Given the description of an element on the screen output the (x, y) to click on. 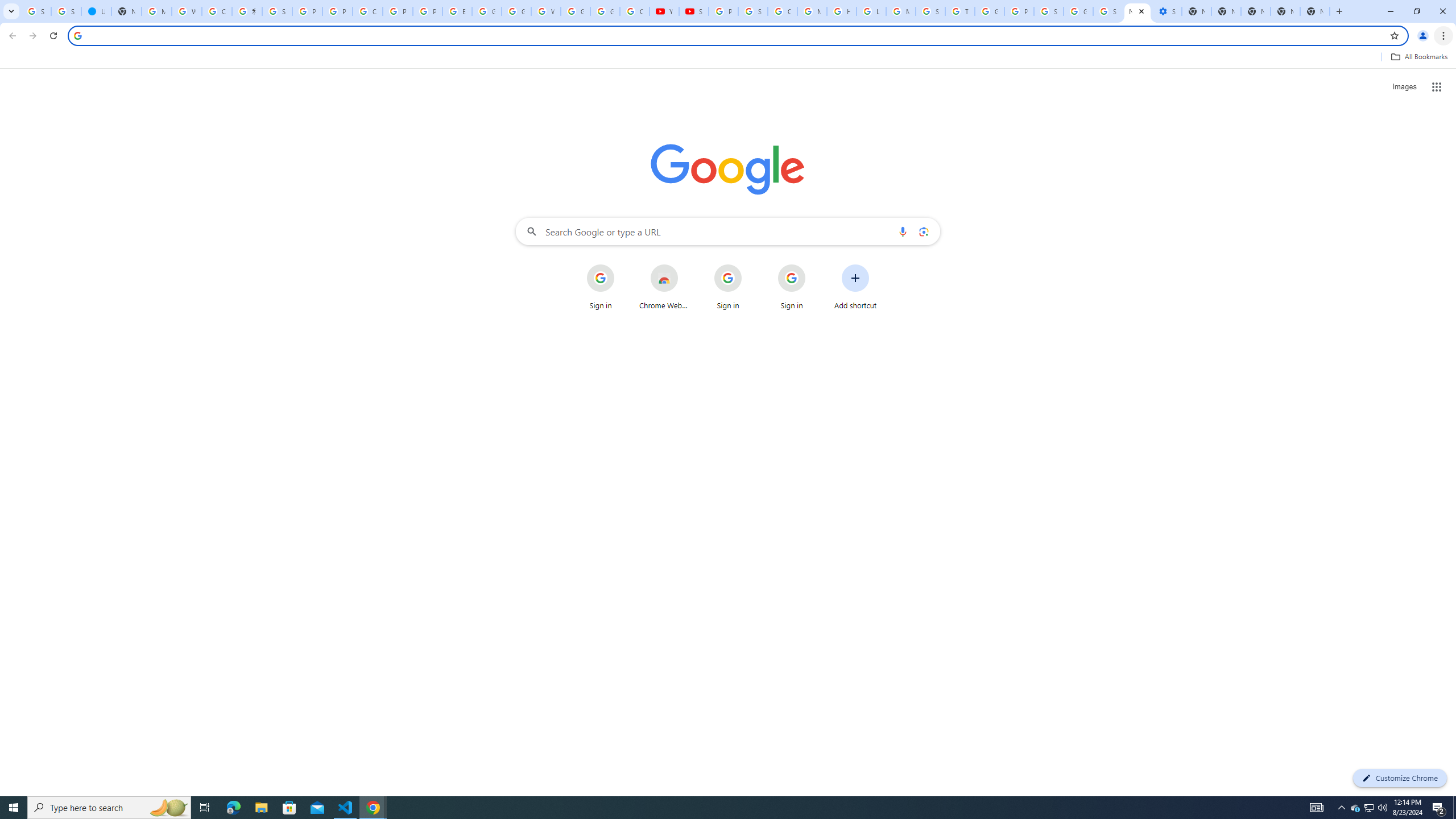
Google Cybersecurity Innovations - Google Safety Center (1077, 11)
Create your Google Account (216, 11)
Search for Images  (1403, 87)
USA TODAY (95, 11)
Edit and view right-to-left text - Google Docs Editors Help (456, 11)
Search our Doodle Library Collection - Google Doodles (930, 11)
Google Account (604, 11)
